Given the description of an element on the screen output the (x, y) to click on. 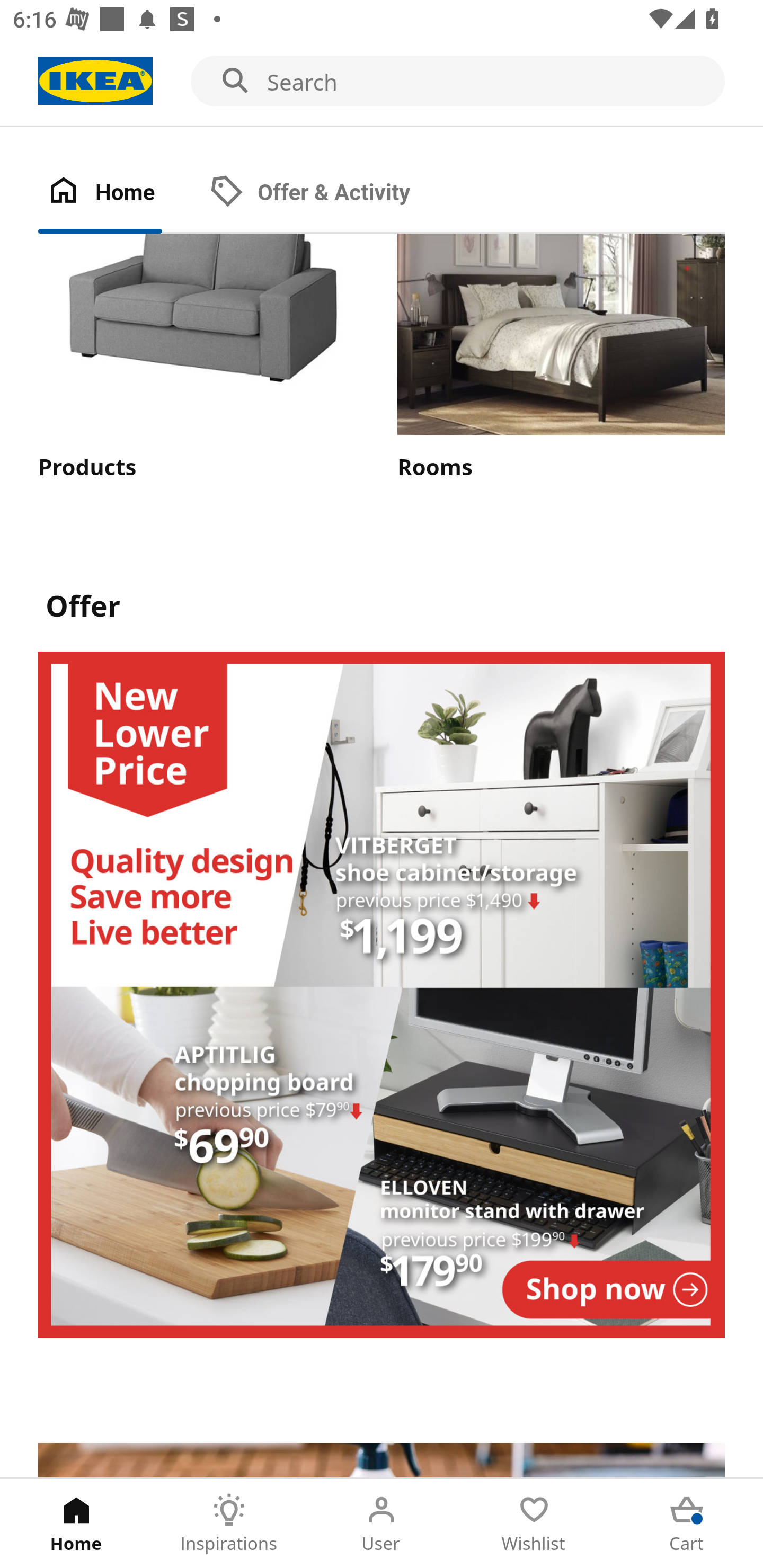
Search (381, 81)
Home
Tab 1 of 2 (118, 192)
Offer & Activity
Tab 2 of 2 (327, 192)
Products (201, 357)
Rooms (560, 357)
Home
Tab 1 of 5 (76, 1522)
Inspirations
Tab 2 of 5 (228, 1522)
User
Tab 3 of 5 (381, 1522)
Wishlist
Tab 4 of 5 (533, 1522)
Cart
Tab 5 of 5 (686, 1522)
